Given the description of an element on the screen output the (x, y) to click on. 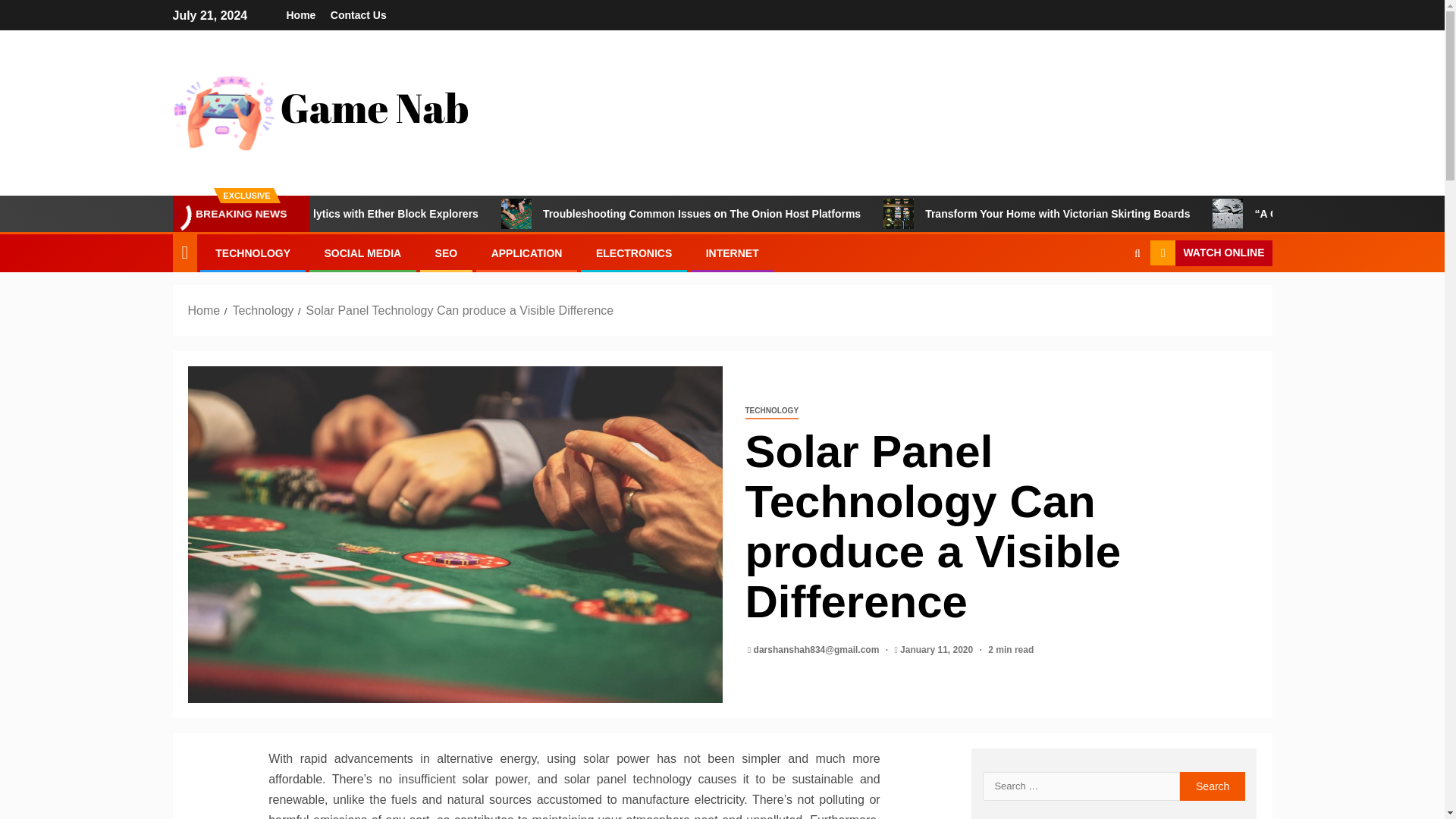
Real-Time Analytics with Ether Block Explorers (458, 214)
Search (1212, 786)
Troubleshooting Common Issues on The Onion Host Platforms (799, 214)
Contact Us (358, 15)
WATCH ONLINE (1210, 253)
SEO (446, 253)
Search (1107, 299)
INTERNET (732, 253)
Home (300, 15)
Transform Your Home with Victorian Skirting Boards (1154, 214)
Technology (262, 309)
TECHNOLOGY (770, 411)
Search (1212, 786)
Solar Panel Technology Can produce a Visible Difference (459, 309)
TECHNOLOGY (252, 253)
